Given the description of an element on the screen output the (x, y) to click on. 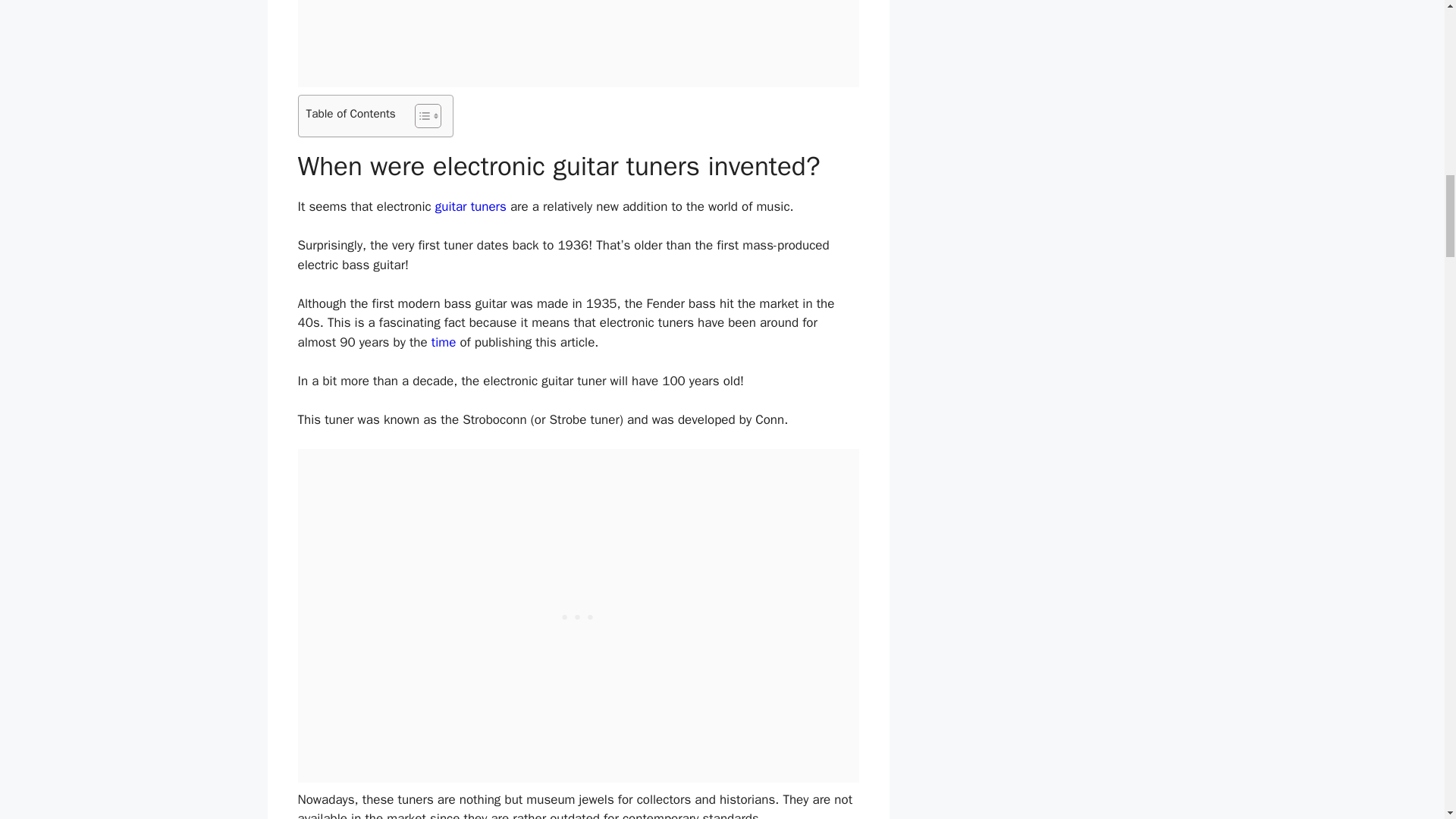
guitar tuners (470, 206)
time (443, 342)
